Given the description of an element on the screen output the (x, y) to click on. 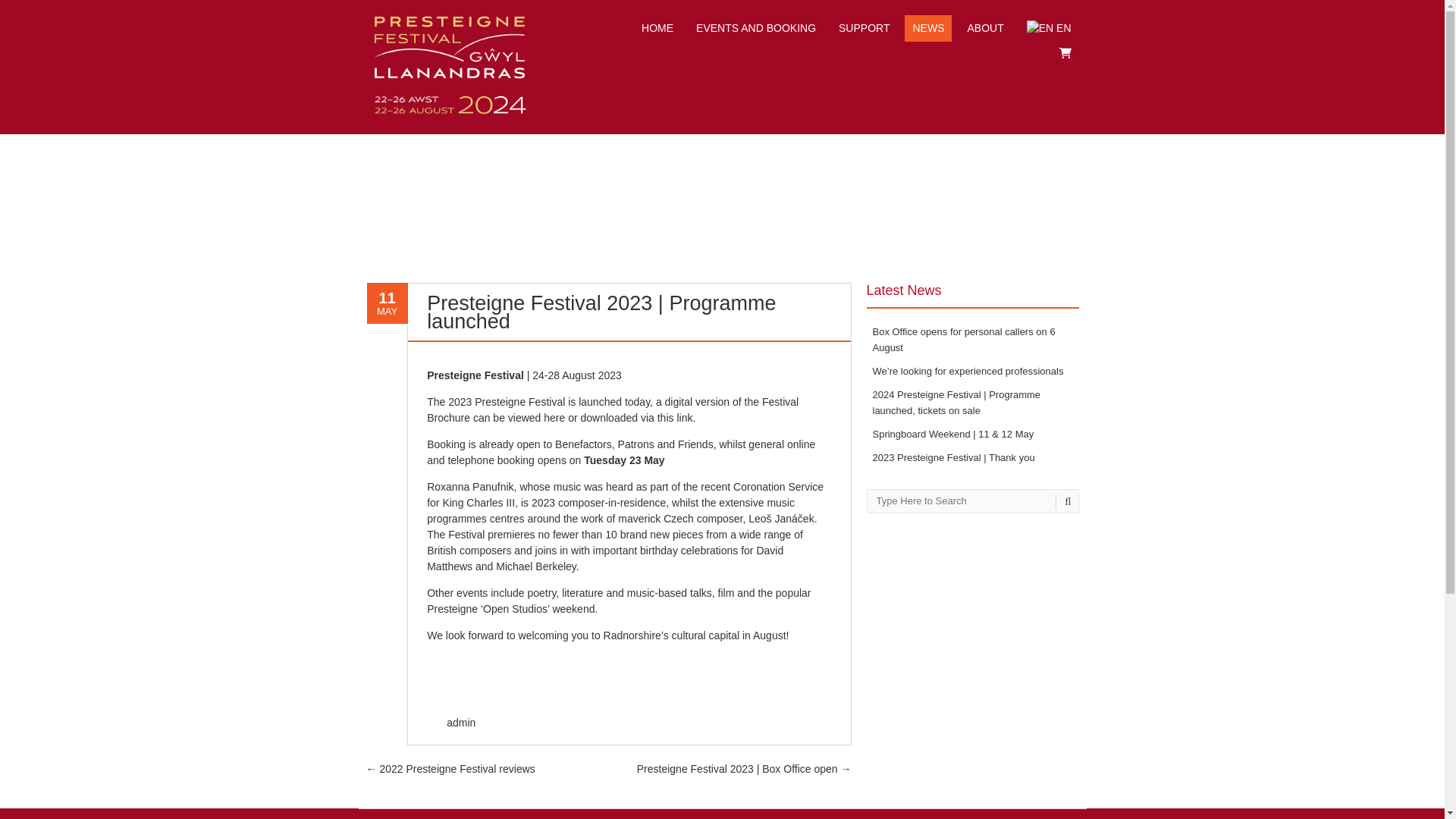
HOME (657, 28)
here (553, 417)
Presteigne Festival of Music and the Arts (448, 118)
Box Office opens for personal callers on 6 August (963, 338)
EVENTS AND BOOKING (756, 28)
NEWS (928, 28)
EN (1048, 28)
SUPPORT (863, 28)
ABOUT (984, 28)
link (685, 417)
